Given the description of an element on the screen output the (x, y) to click on. 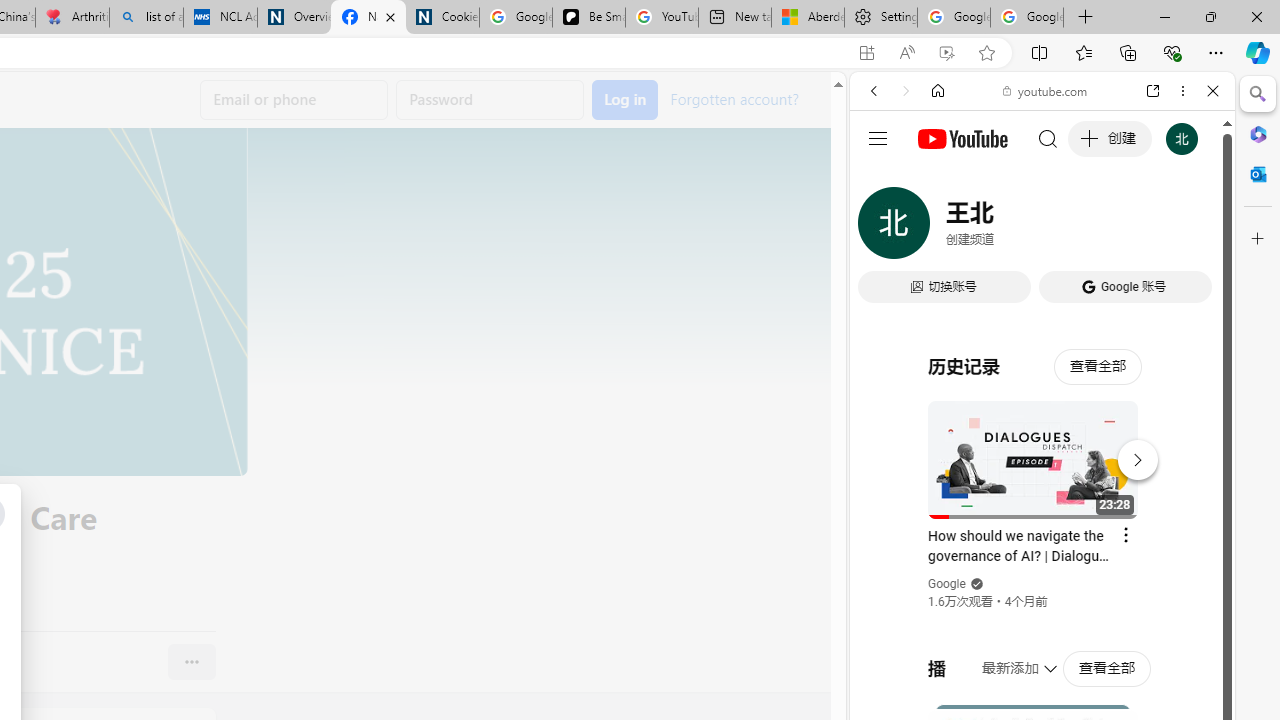
Global web icon (888, 288)
Email or phone (294, 99)
VIDEOS (1006, 228)
Close Customize pane (1258, 239)
Arthritis: Ask Health Professionals (71, 17)
Search Filter, WEB (882, 228)
Search the web (1051, 137)
Forward (906, 91)
